Given the description of an element on the screen output the (x, y) to click on. 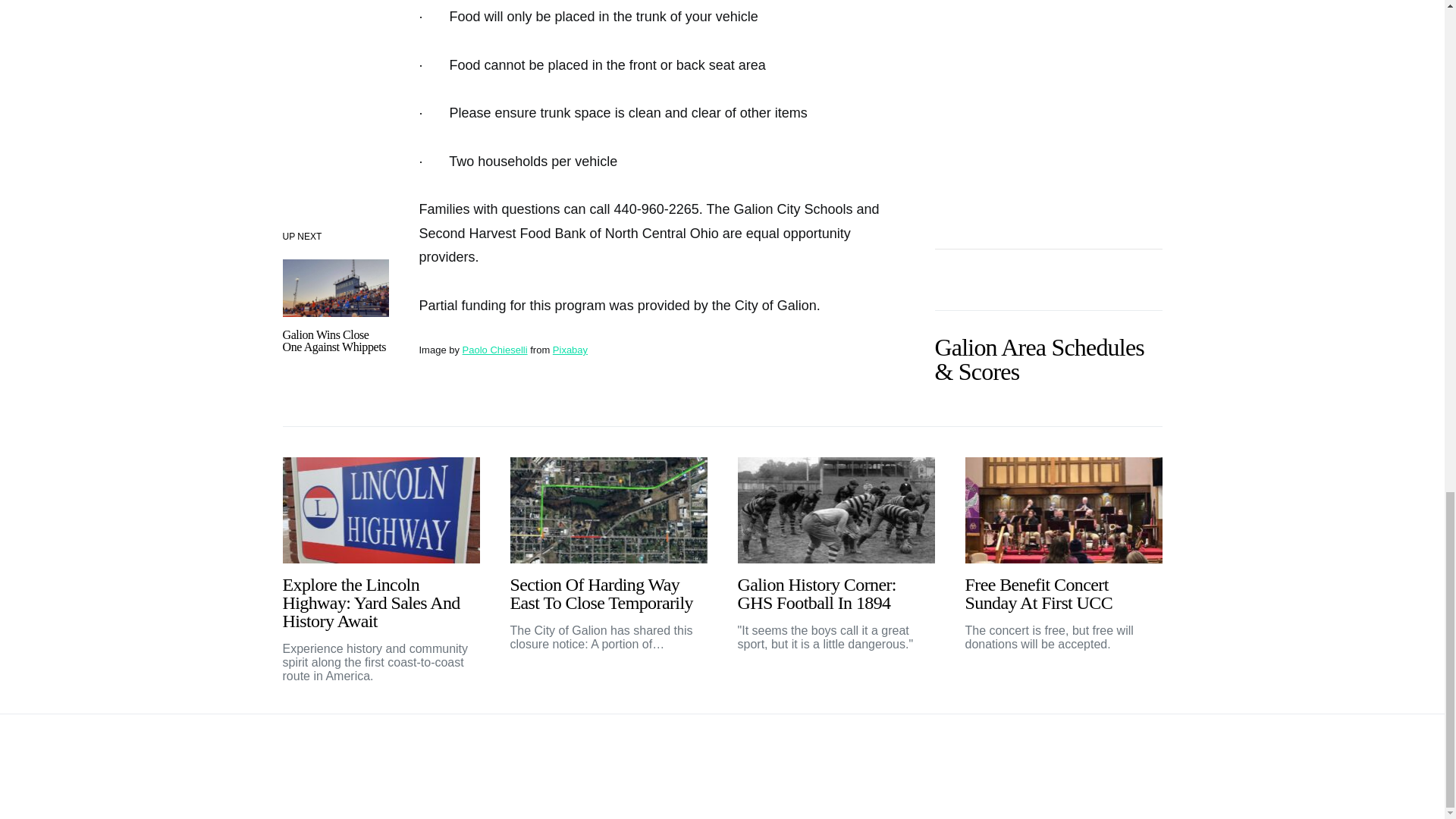
Terms Of Use (1125, 753)
Galion Wins Close One Against Whippets (333, 340)
Pixabay (570, 349)
Paolo Chieselli (495, 349)
